Given the description of an element on the screen output the (x, y) to click on. 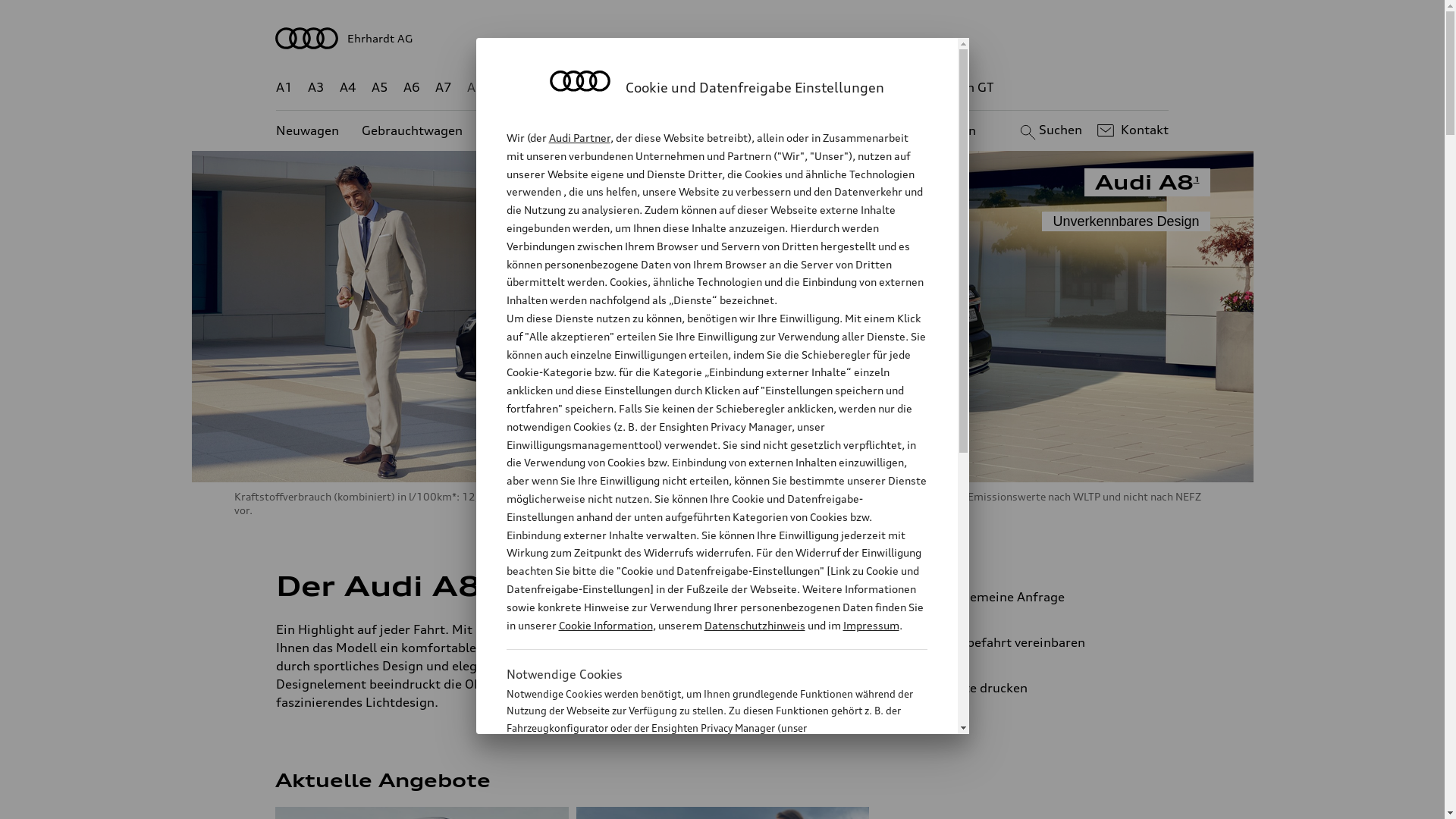
Q3 Element type: text (540, 87)
A4 Element type: text (347, 87)
Neuwagen Element type: text (307, 130)
Probefahrt vereinbaren Element type: text (1038, 642)
Q8 e-tron Element type: text (763, 87)
g-tron Element type: text (903, 87)
Datenschutzhinweis Element type: text (753, 624)
Ehrhardt AG Element type: text (722, 38)
e-tron GT Element type: text (965, 87)
Q2 Element type: text (507, 87)
A3 Element type: text (315, 87)
Angebote Element type: text (636, 130)
Cookie Information Element type: text (605, 624)
Impressum Element type: text (871, 624)
Q4 e-tron Element type: text (592, 87)
A1 Element type: text (284, 87)
1 Element type: text (1196, 178)
Q5 Element type: text (645, 87)
1 Element type: text (483, 582)
Suchen Element type: text (1049, 130)
Seite drucken Element type: text (1044, 687)
A5 Element type: text (379, 87)
Allgemeine Anfrage Element type: text (1038, 596)
Gebrauchtwagen Element type: text (411, 130)
Q7 Element type: text (678, 87)
Kontakt Element type: text (1130, 130)
Cookie Information Element type: text (700, 802)
A6 Element type: text (411, 87)
Audi Partner Element type: text (579, 137)
Kundenservice Element type: text (730, 130)
RS Element type: text (861, 87)
A7 Element type: text (443, 87)
TT Element type: text (814, 87)
A8 Element type: text (475, 87)
Q8 Element type: text (710, 87)
